Given the description of an element on the screen output the (x, y) to click on. 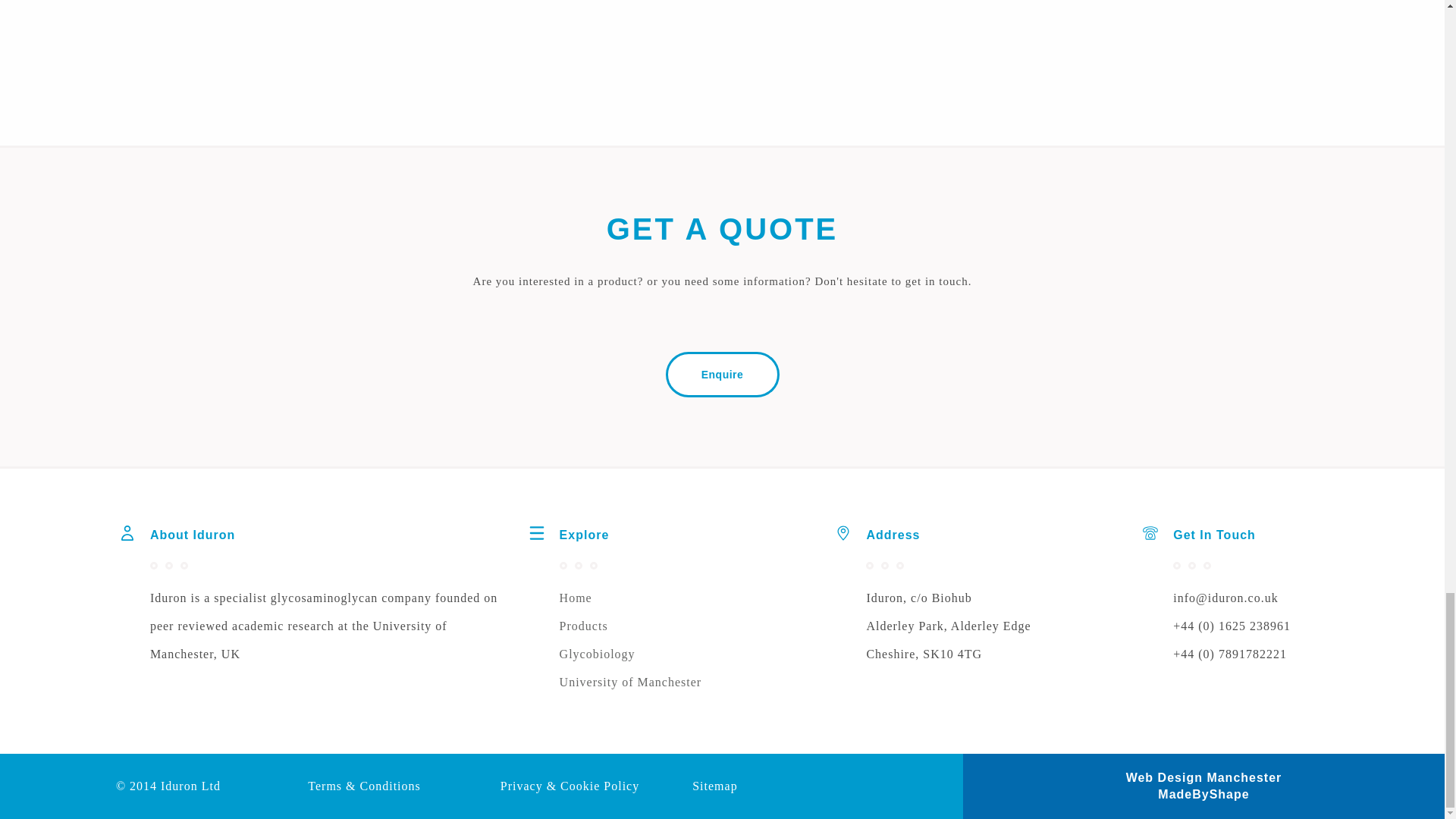
Sitemap (714, 785)
